Given the description of an element on the screen output the (x, y) to click on. 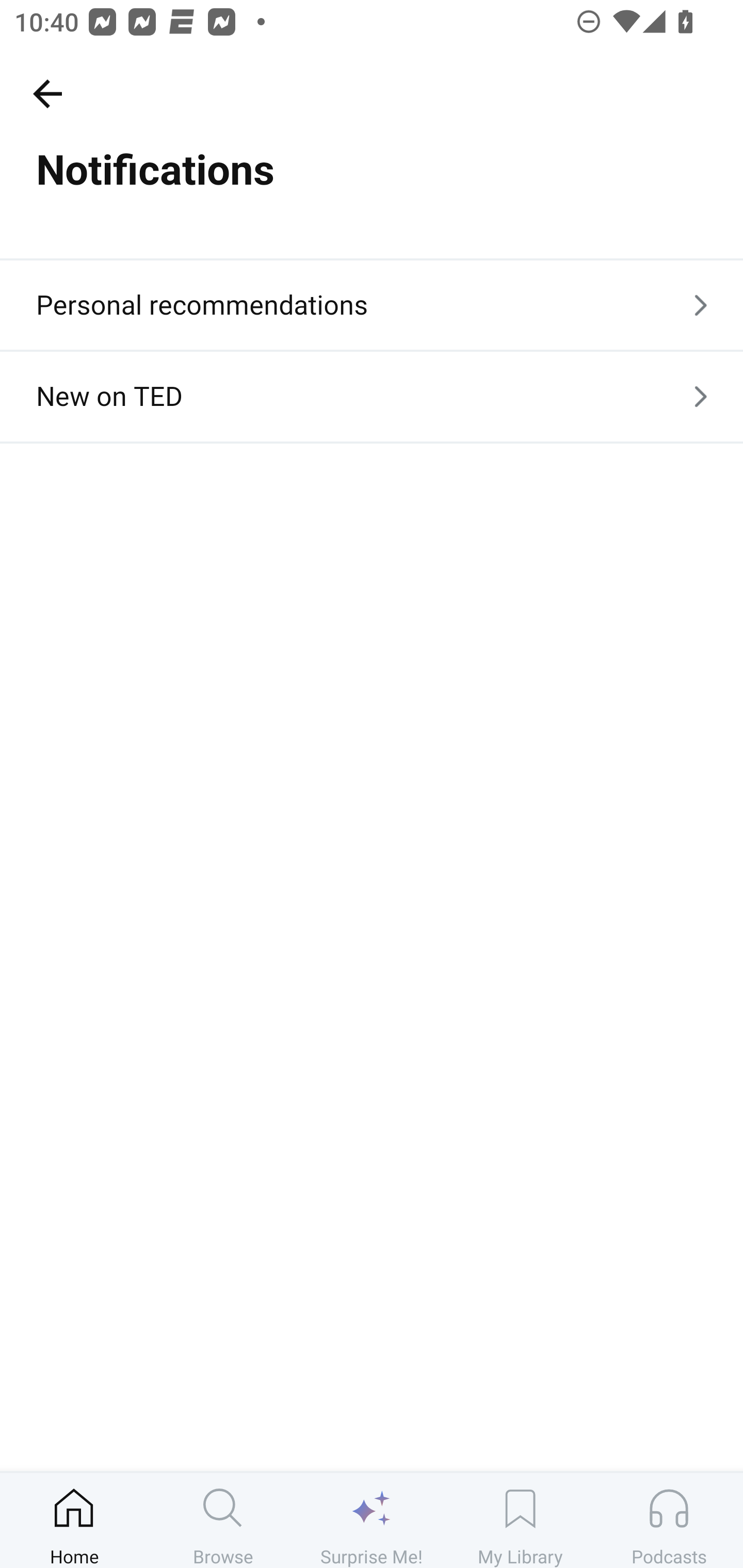
Settings, back (47, 92)
Personal recommendations (371, 304)
New on TED (371, 396)
Home (74, 1520)
Browse (222, 1520)
Surprise Me! (371, 1520)
My Library (519, 1520)
Podcasts (668, 1520)
